Given the description of an element on the screen output the (x, y) to click on. 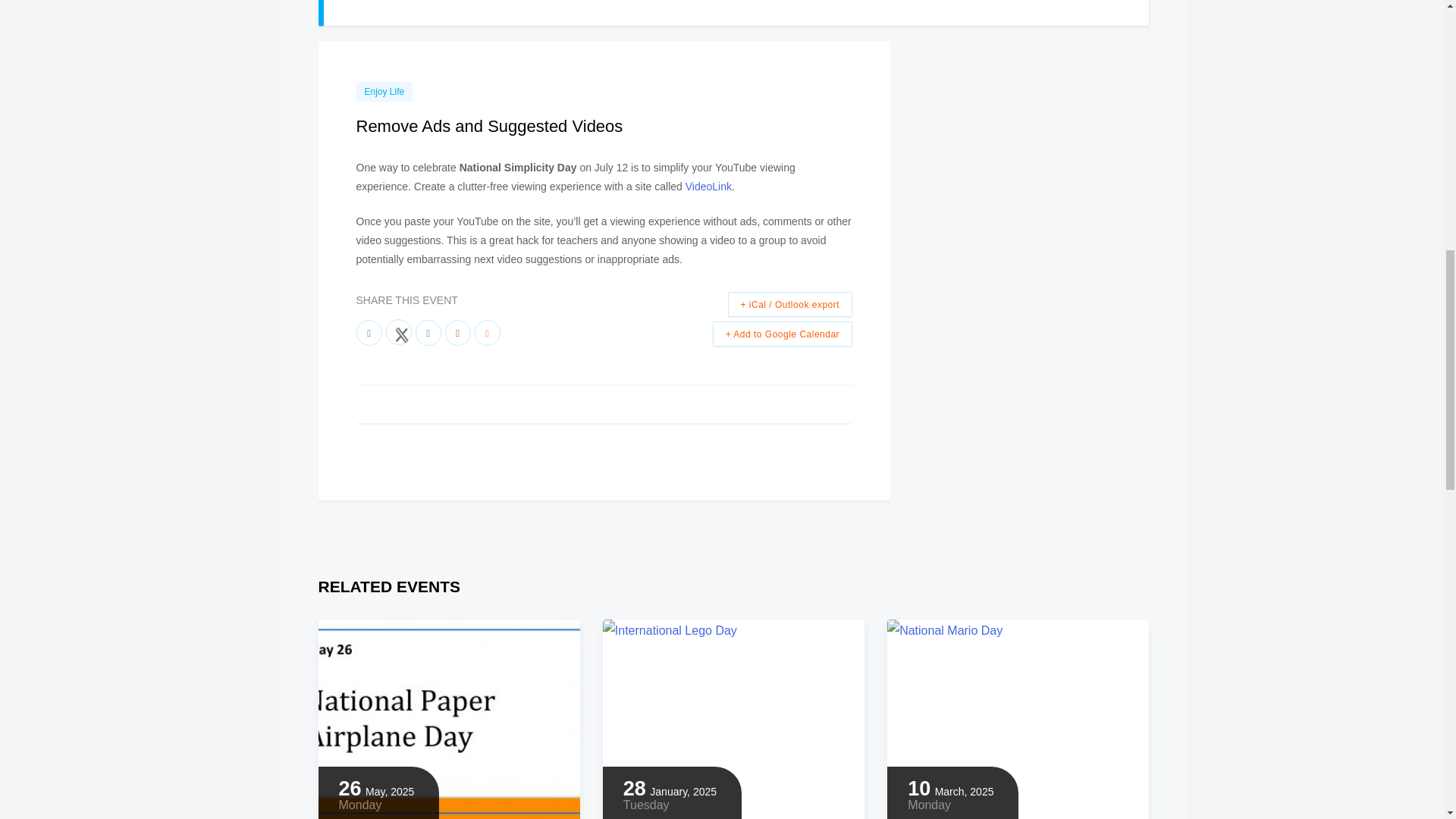
X Social Network (397, 331)
Linkedin (427, 332)
Email (487, 332)
Share on Pinterest (457, 332)
Share on Facebook (368, 332)
